Given the description of an element on the screen output the (x, y) to click on. 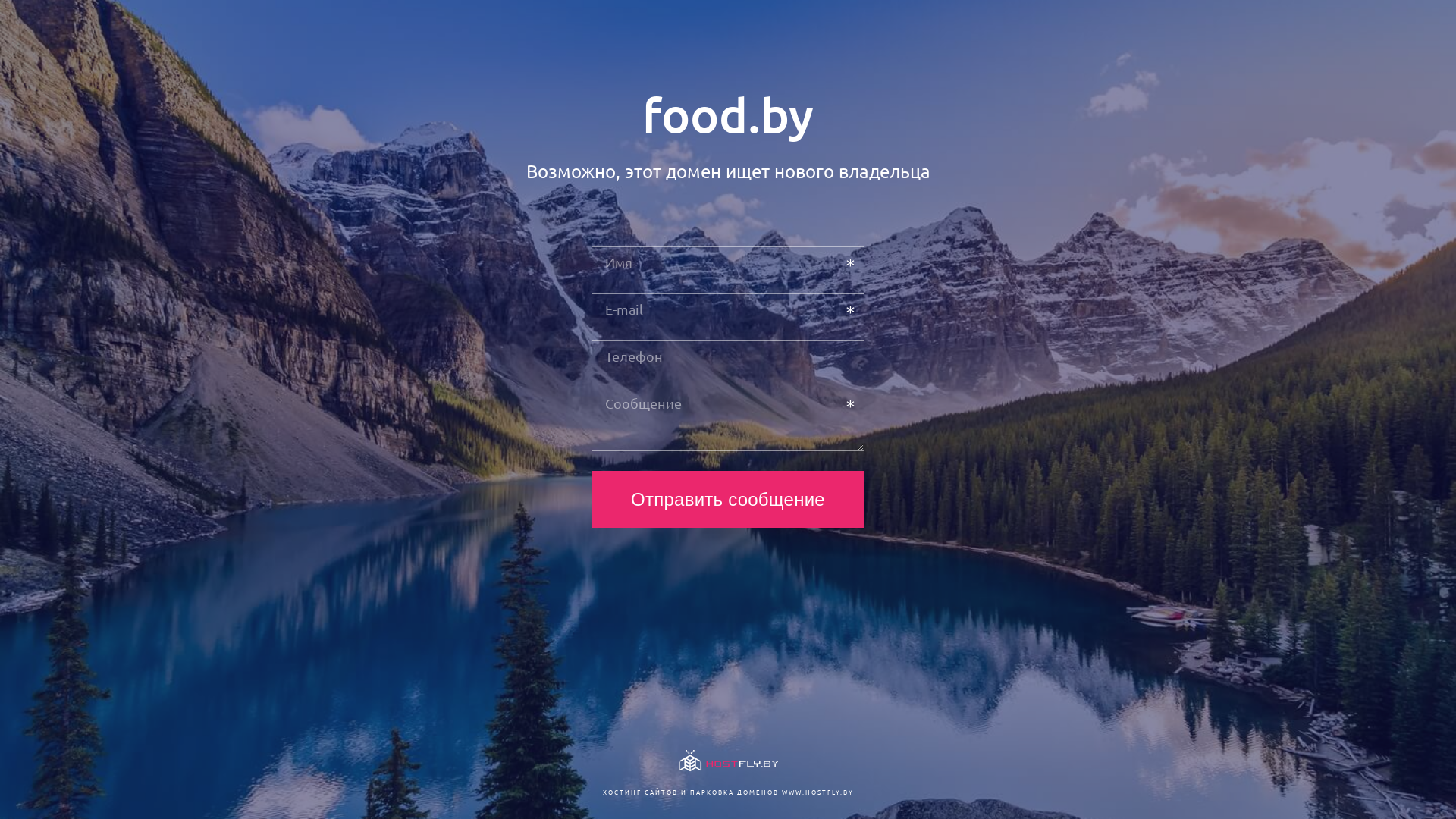
WWW.HOSTFLY.BY Element type: text (817, 791)
